Given the description of an element on the screen output the (x, y) to click on. 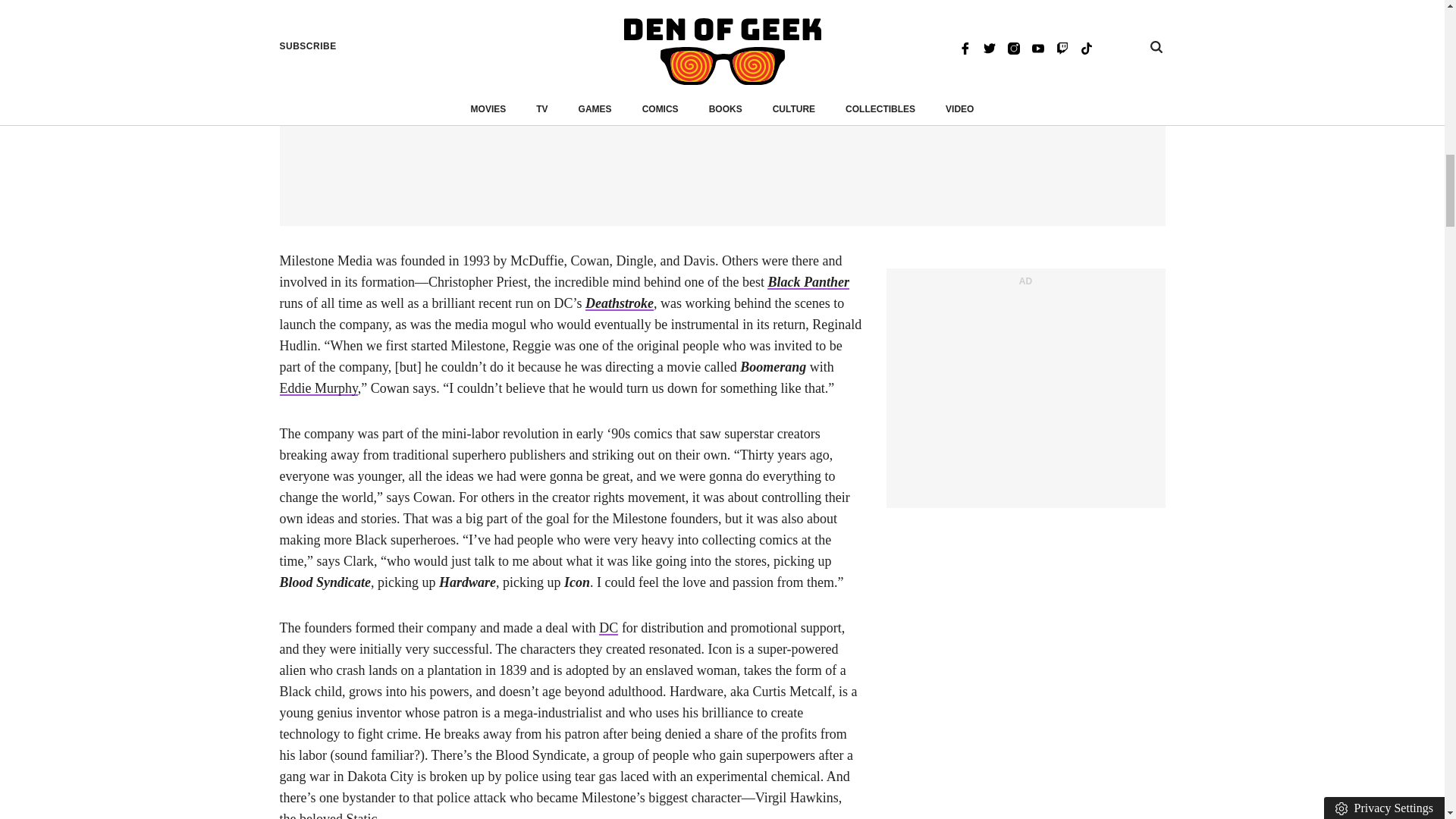
Eddie Murphy (317, 387)
Deathstroke (619, 303)
Black Panther (807, 281)
